Given the description of an element on the screen output the (x, y) to click on. 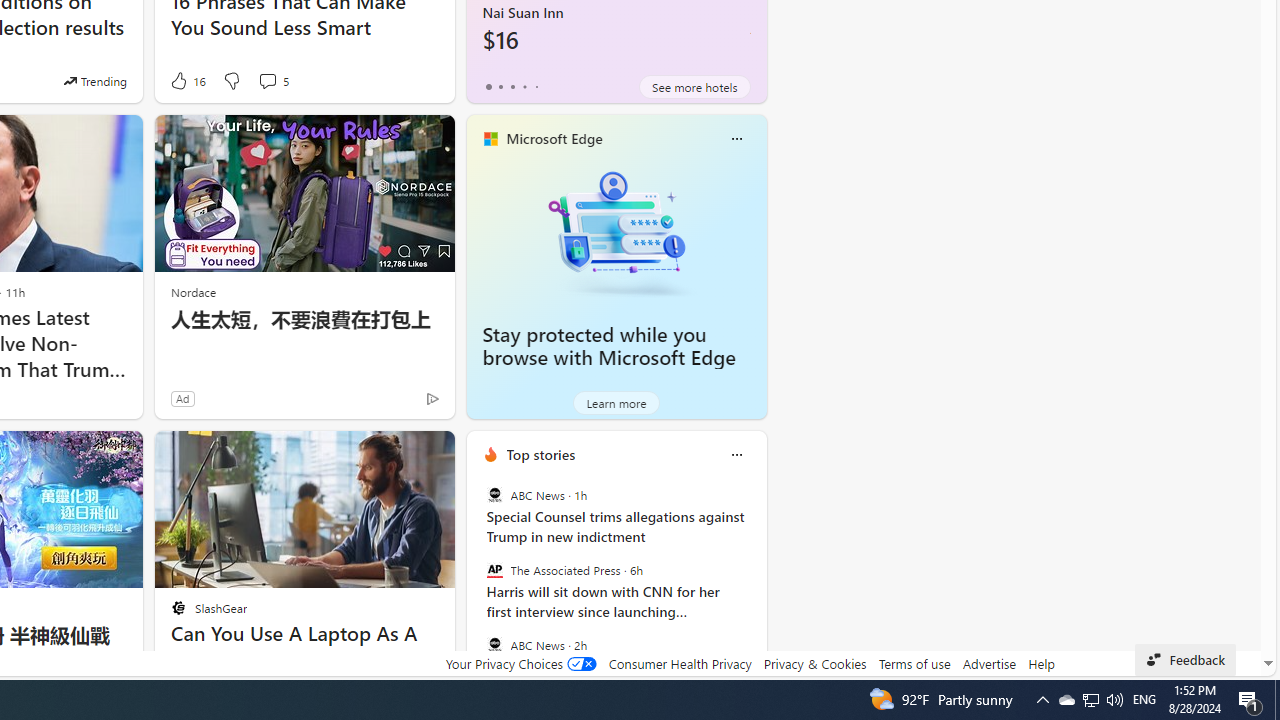
Privacy & Cookies (814, 663)
Microsoft Edge (553, 139)
Help (1040, 663)
Stay protected while you browse with Microsoft Edge (616, 232)
Terms of use (914, 663)
This story is trending (95, 80)
tab-4 (535, 86)
Learn more (616, 402)
